Given the description of an element on the screen output the (x, y) to click on. 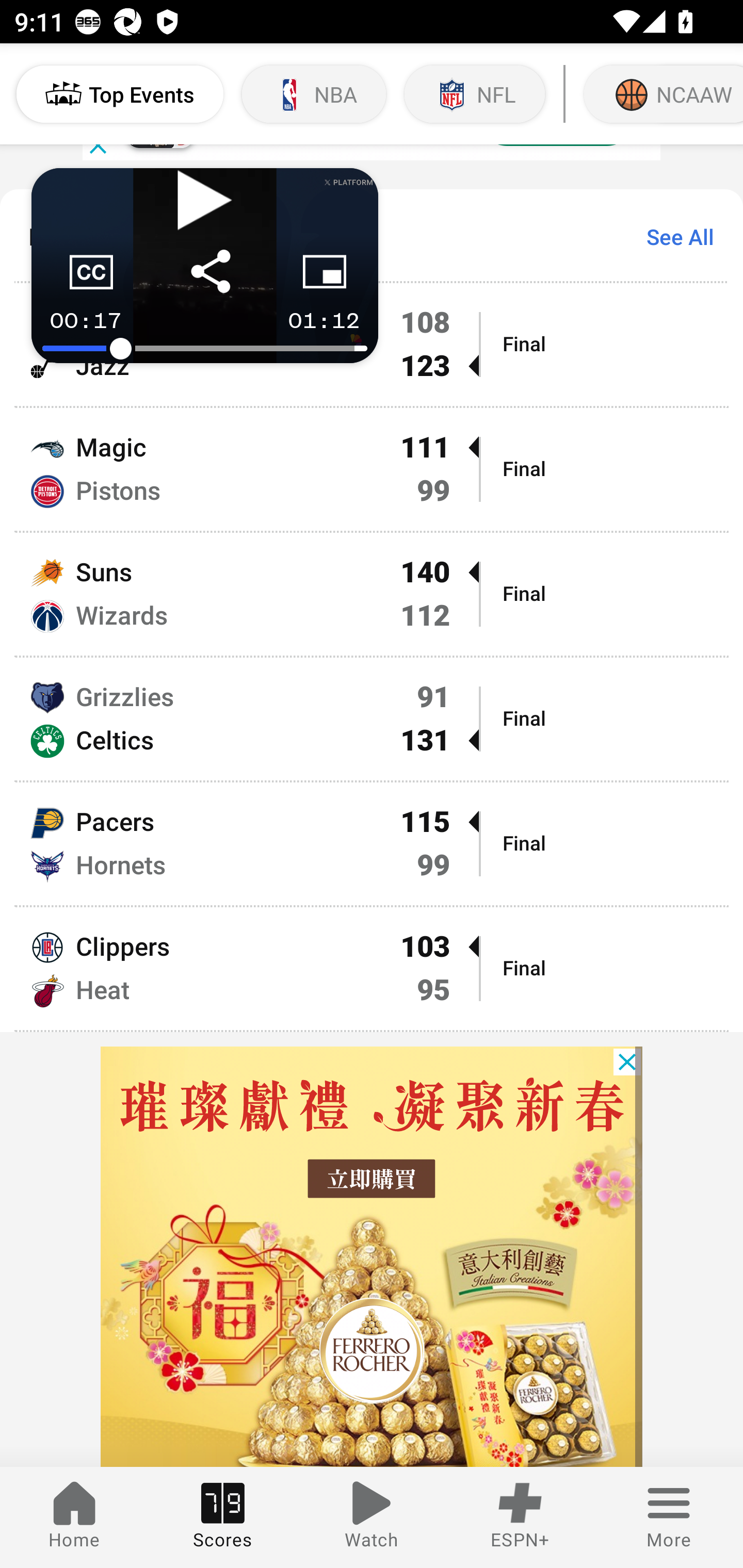
 Top Events (119, 93)
NBA (313, 93)
NFL (474, 93)
NCAAW (661, 93)
See All (673, 235)
Magic 111  Pistons 99 Final (371, 468)
Suns 140  Wizards 112 Final (371, 594)
Grizzlies 91 Celtics 131  Final (371, 718)
Pacers 115  Hornets 99 Final (371, 843)
Clippers 103  Heat 95 Final (371, 968)
300x250 javascript:void(window (371, 1256)
Home (74, 1517)
Watch (371, 1517)
ESPN+ (519, 1517)
More (668, 1517)
